Given the description of an element on the screen output the (x, y) to click on. 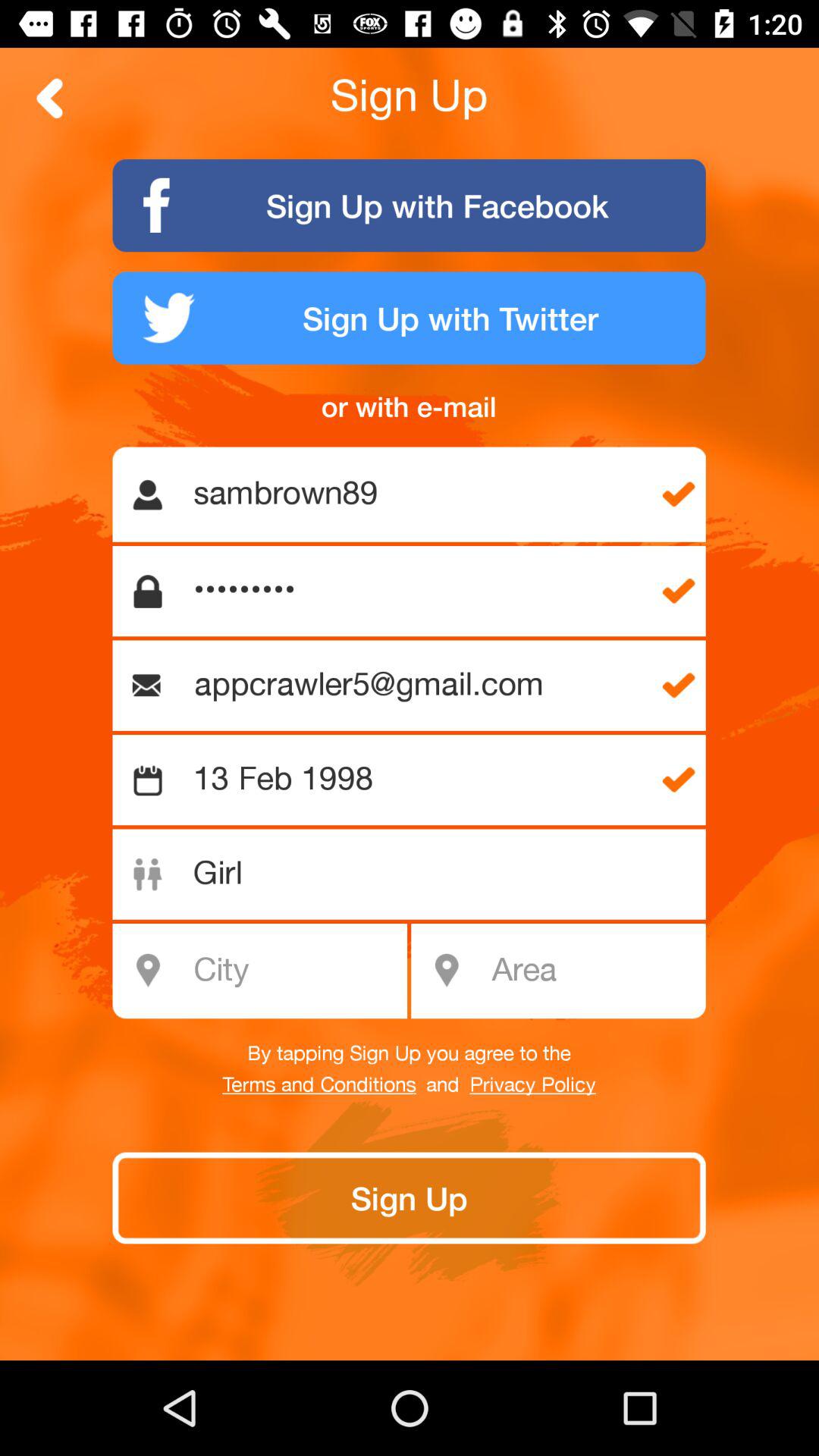
type the area where you live (593, 970)
